Given the description of an element on the screen output the (x, y) to click on. 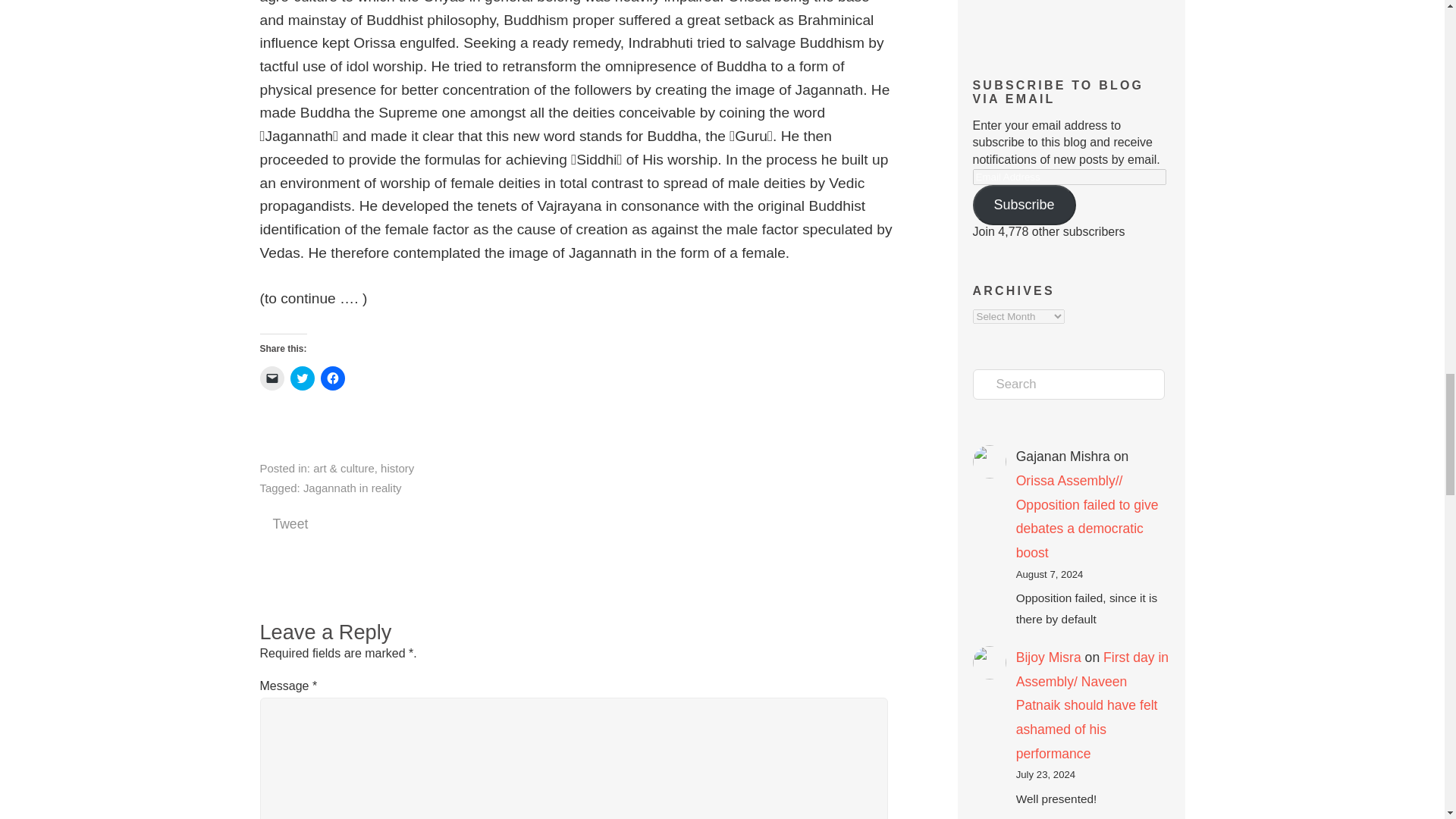
Tweet (289, 523)
Bijoy Misra (1048, 657)
Click to share on Facebook (331, 378)
Click to share on Twitter (301, 378)
history (396, 468)
Click to email a link to a friend (271, 378)
Subscribe (1023, 205)
Jagannath in reality (351, 487)
